Given the description of an element on the screen output the (x, y) to click on. 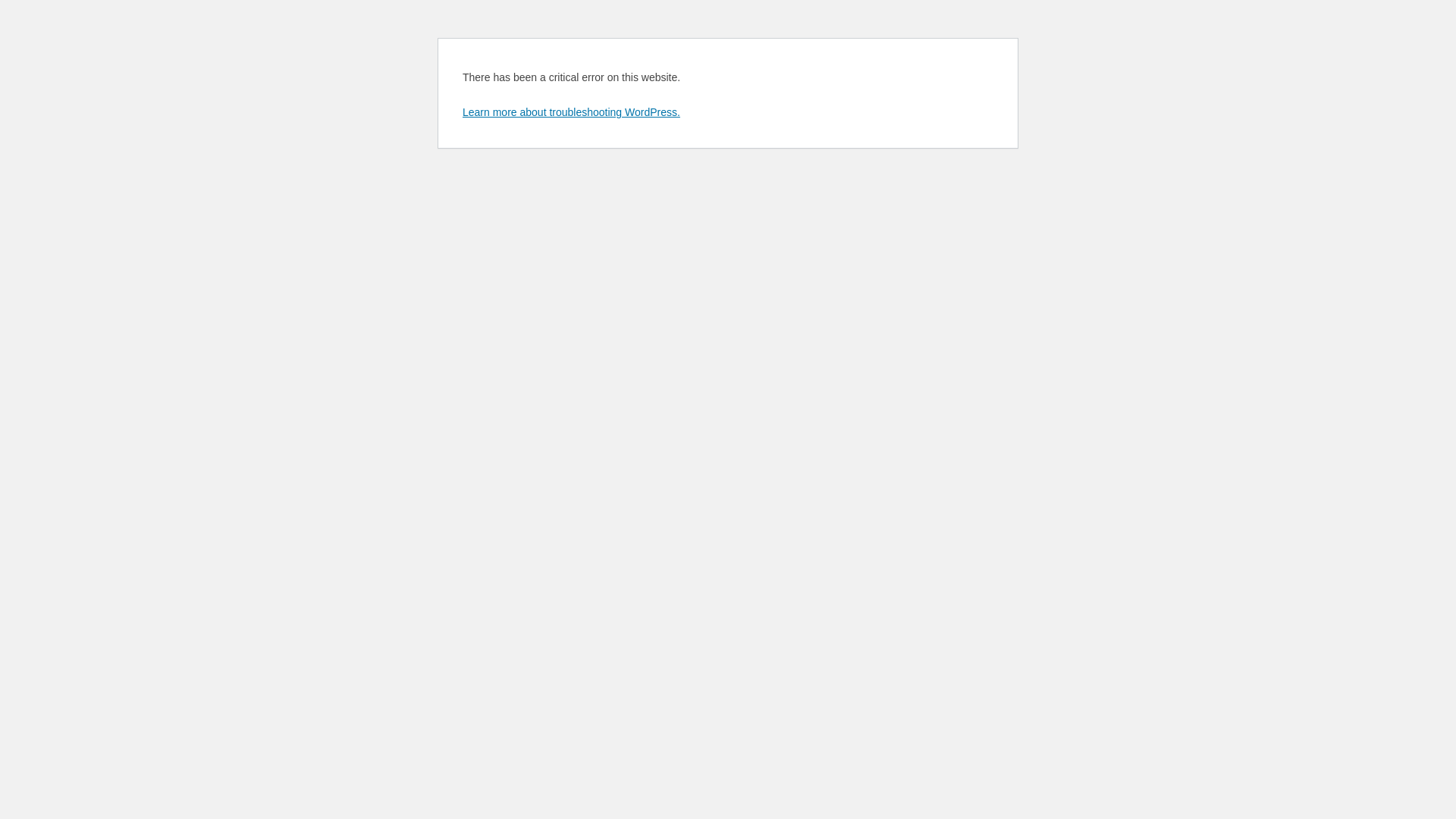
Learn more about troubleshooting WordPress. Element type: text (571, 112)
